Given the description of an element on the screen output the (x, y) to click on. 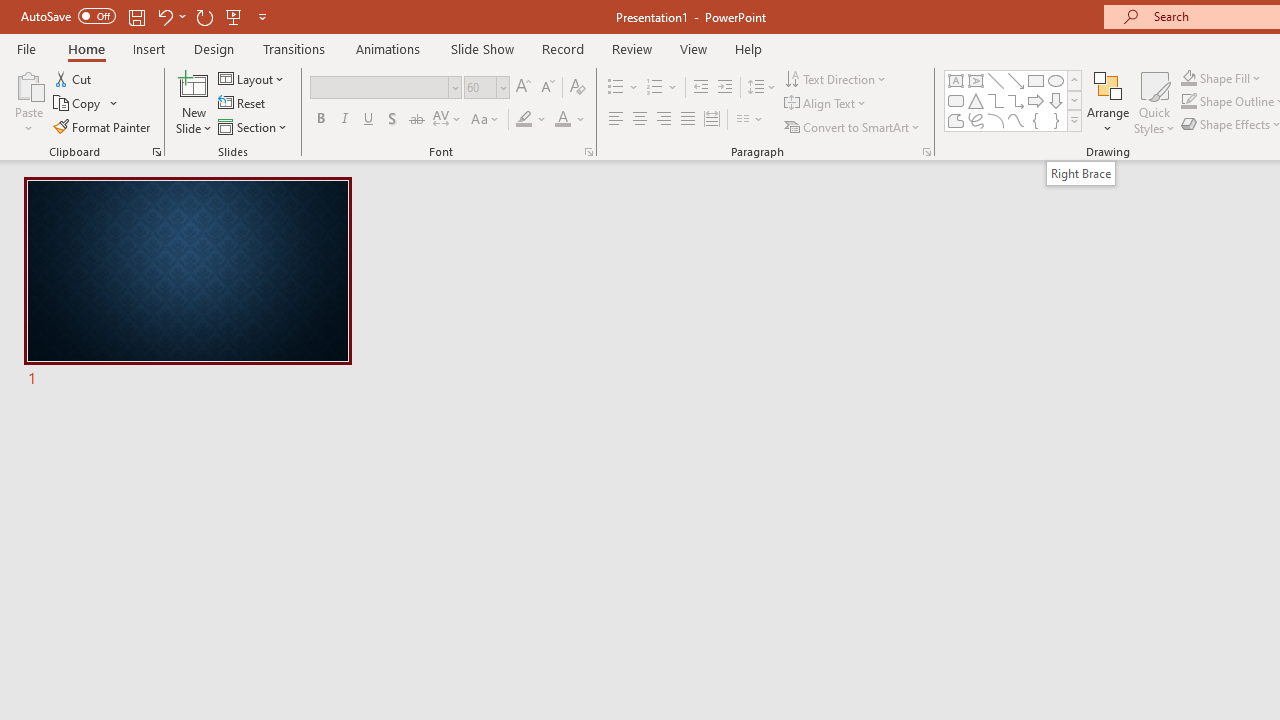
Shape Fill Orange, Accent 2 (1188, 78)
Columns (750, 119)
Office Clipboard... (156, 151)
